Given the description of an element on the screen output the (x, y) to click on. 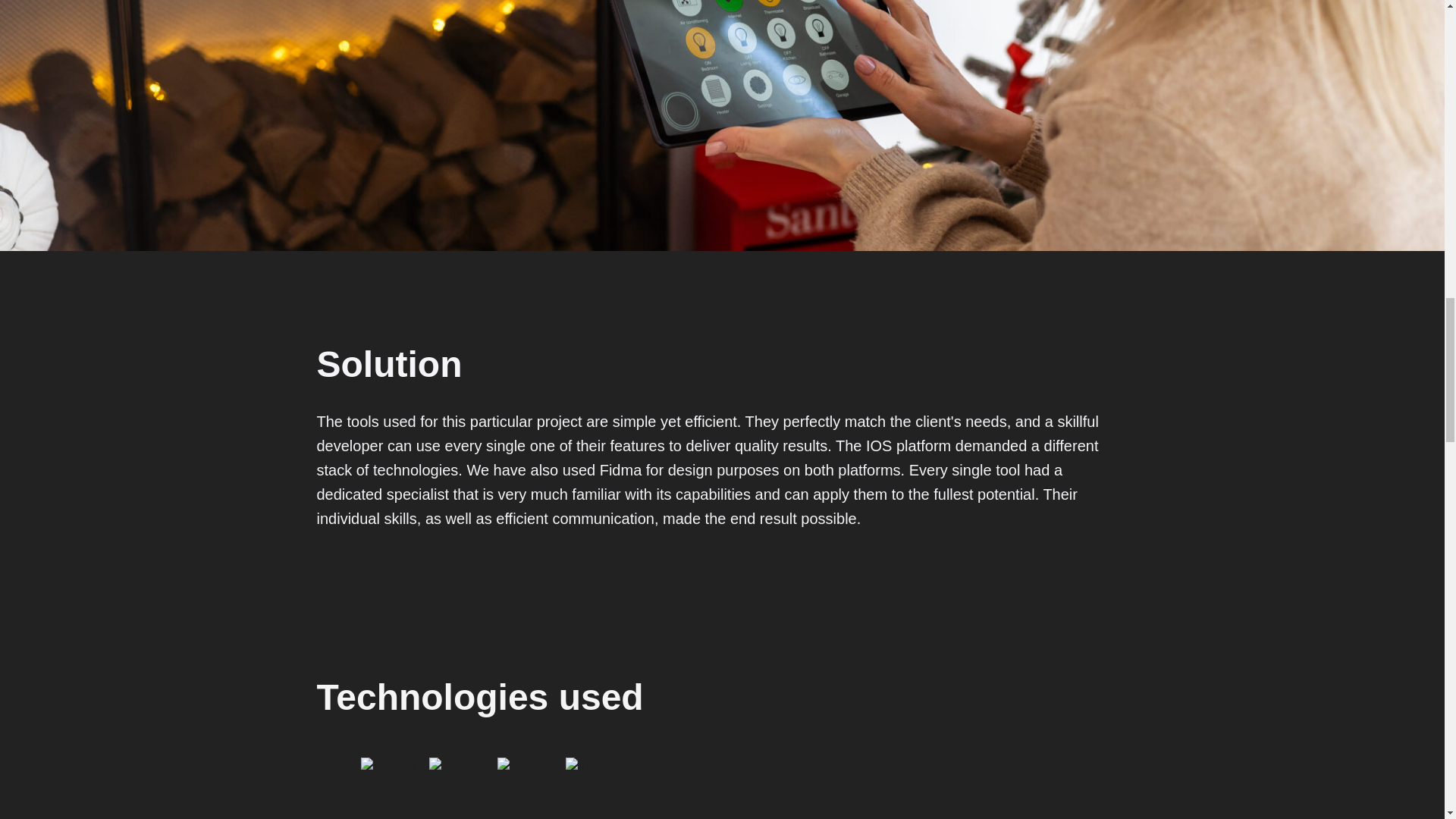
Android Studio (391, 787)
Android StuDio dagger-Hilt (527, 787)
XCODE (596, 787)
3D Animation (459, 787)
